Given the description of an element on the screen output the (x, y) to click on. 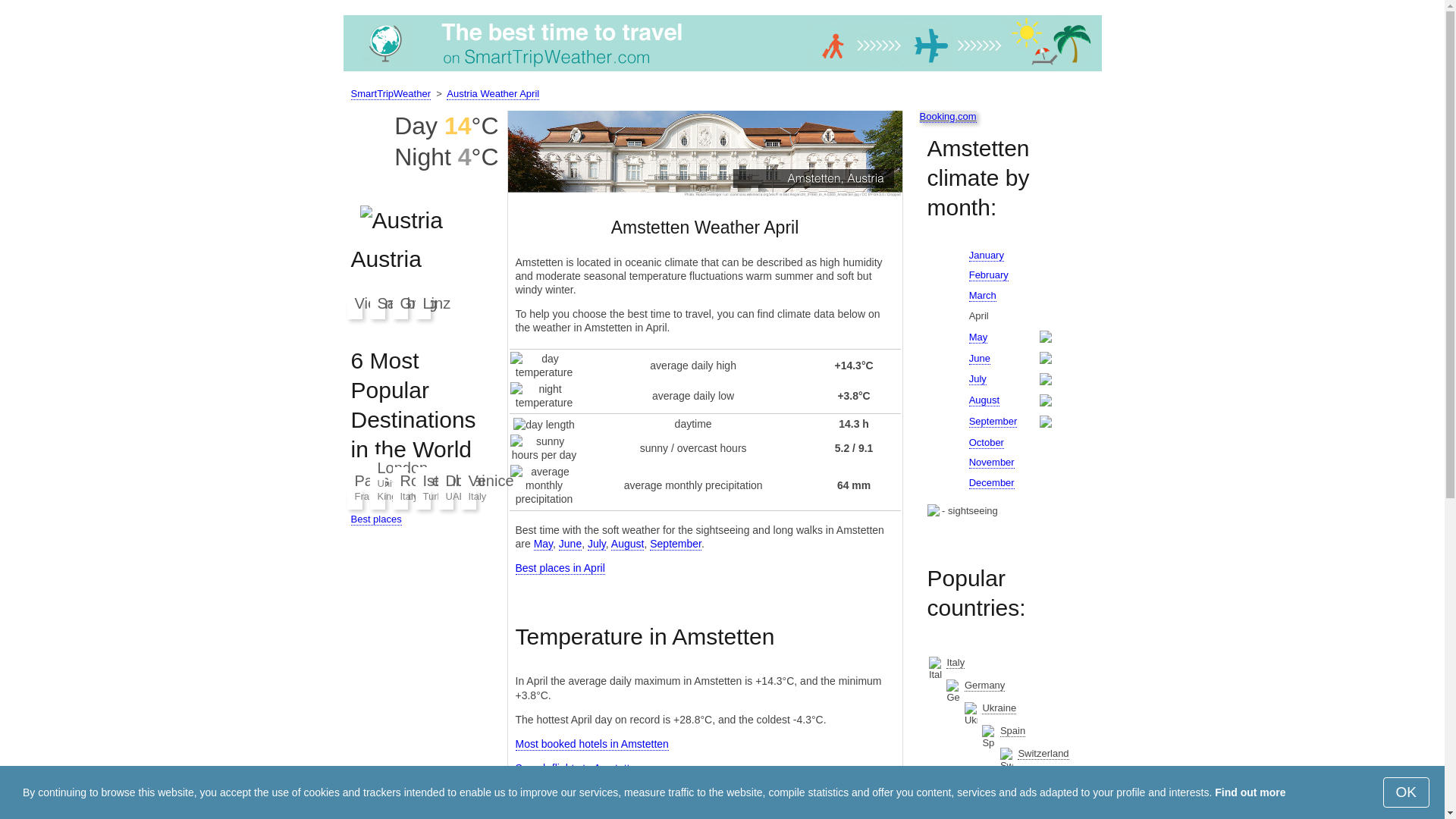
September (675, 543)
United Kingdom (1004, 806)
Find out more (1249, 792)
day temperature (543, 365)
France (1050, 776)
August (628, 543)
SmartTripWeather (721, 70)
July (596, 543)
average monthly precipitation (543, 485)
Ukraine (998, 707)
